Given the description of an element on the screen output the (x, y) to click on. 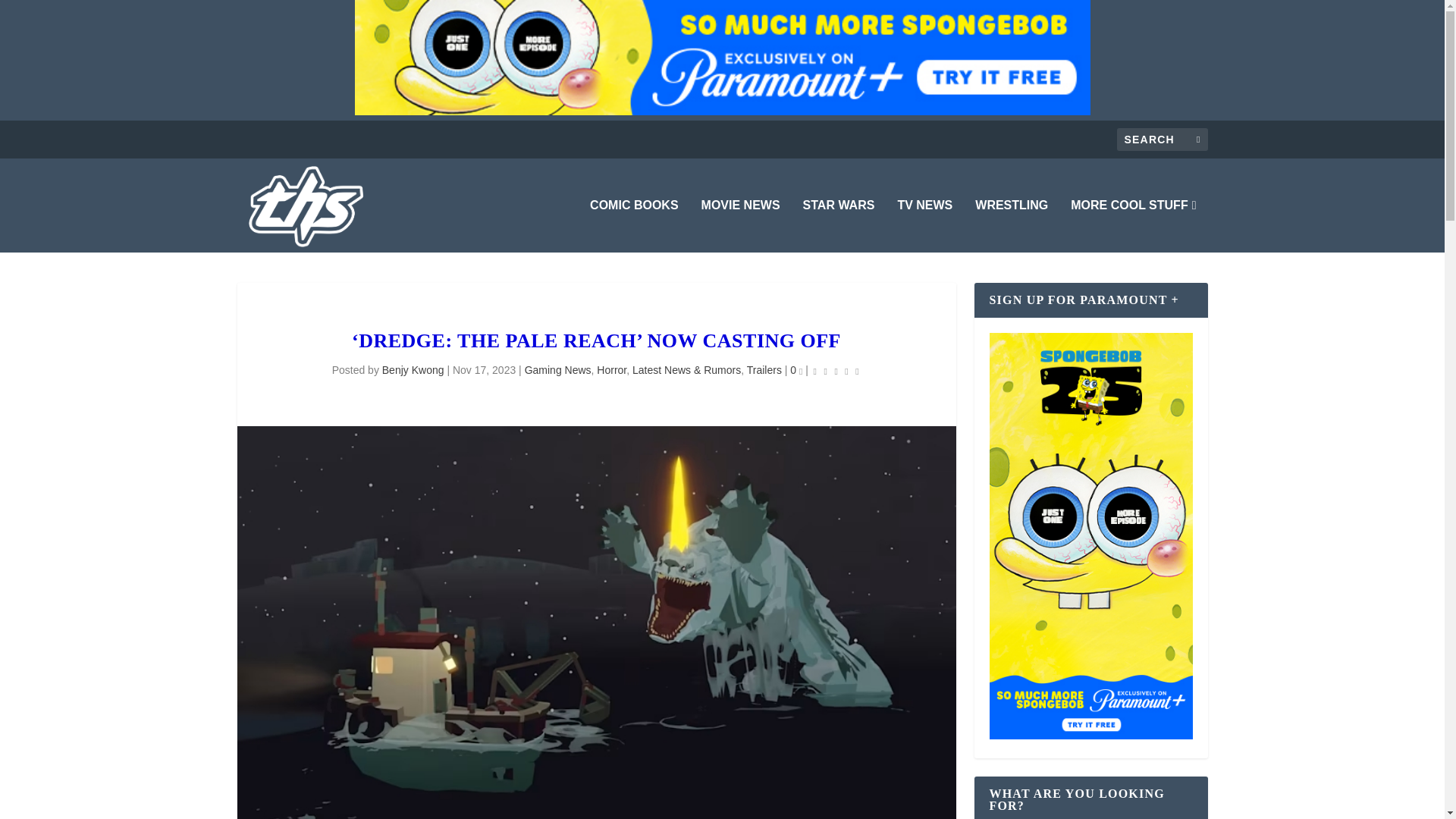
Rating: 0.00 (835, 370)
Horror (611, 369)
COMIC BOOKS (633, 225)
Trailers (763, 369)
0 (796, 369)
MOVIE NEWS (740, 225)
Posts by Benjy Kwong (412, 369)
Gaming News (557, 369)
Search for: (1161, 138)
TV NEWS (924, 225)
WRESTLING (1011, 225)
STAR WARS (839, 225)
MORE COOL STUFF (1132, 225)
Benjy Kwong (412, 369)
